Given the description of an element on the screen output the (x, y) to click on. 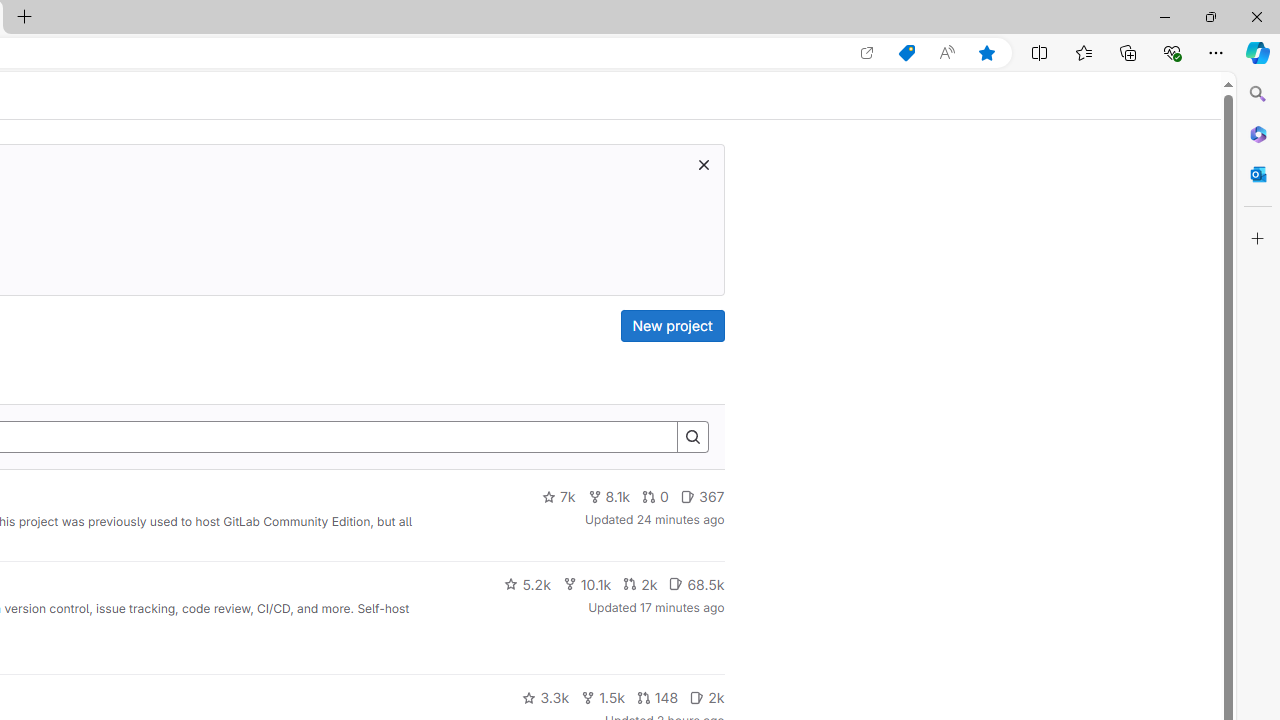
5.2k (527, 583)
Open in app (867, 53)
8.1k (609, 497)
New project (671, 326)
68.5k (696, 583)
